Given the description of an element on the screen output the (x, y) to click on. 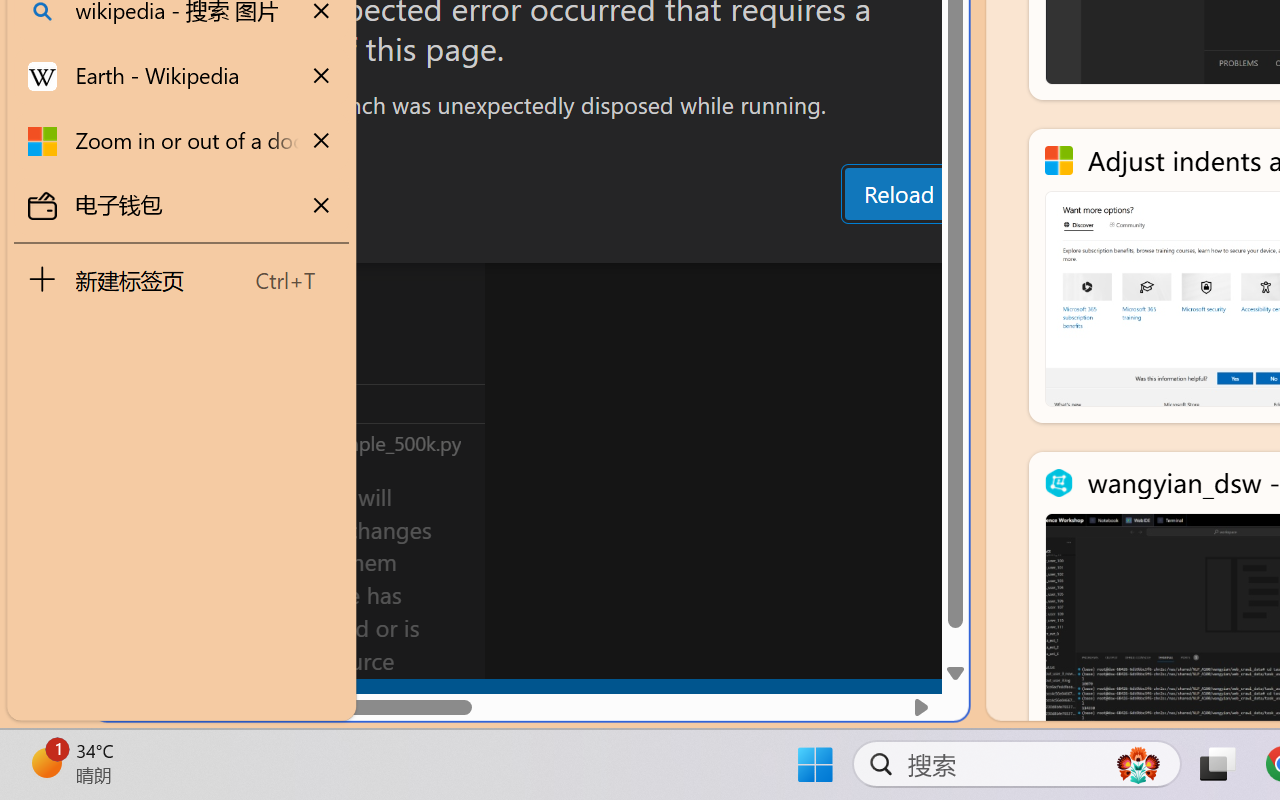
Manage (135, 591)
Problems (Ctrl+Shift+M) (567, 243)
remote (122, 698)
Accounts - Sign in requested (135, 548)
Terminal (Ctrl+`) (1021, 243)
Earth - Wikipedia (181, 75)
No Problems (212, 698)
Timeline Section (331, 442)
